Given the description of an element on the screen output the (x, y) to click on. 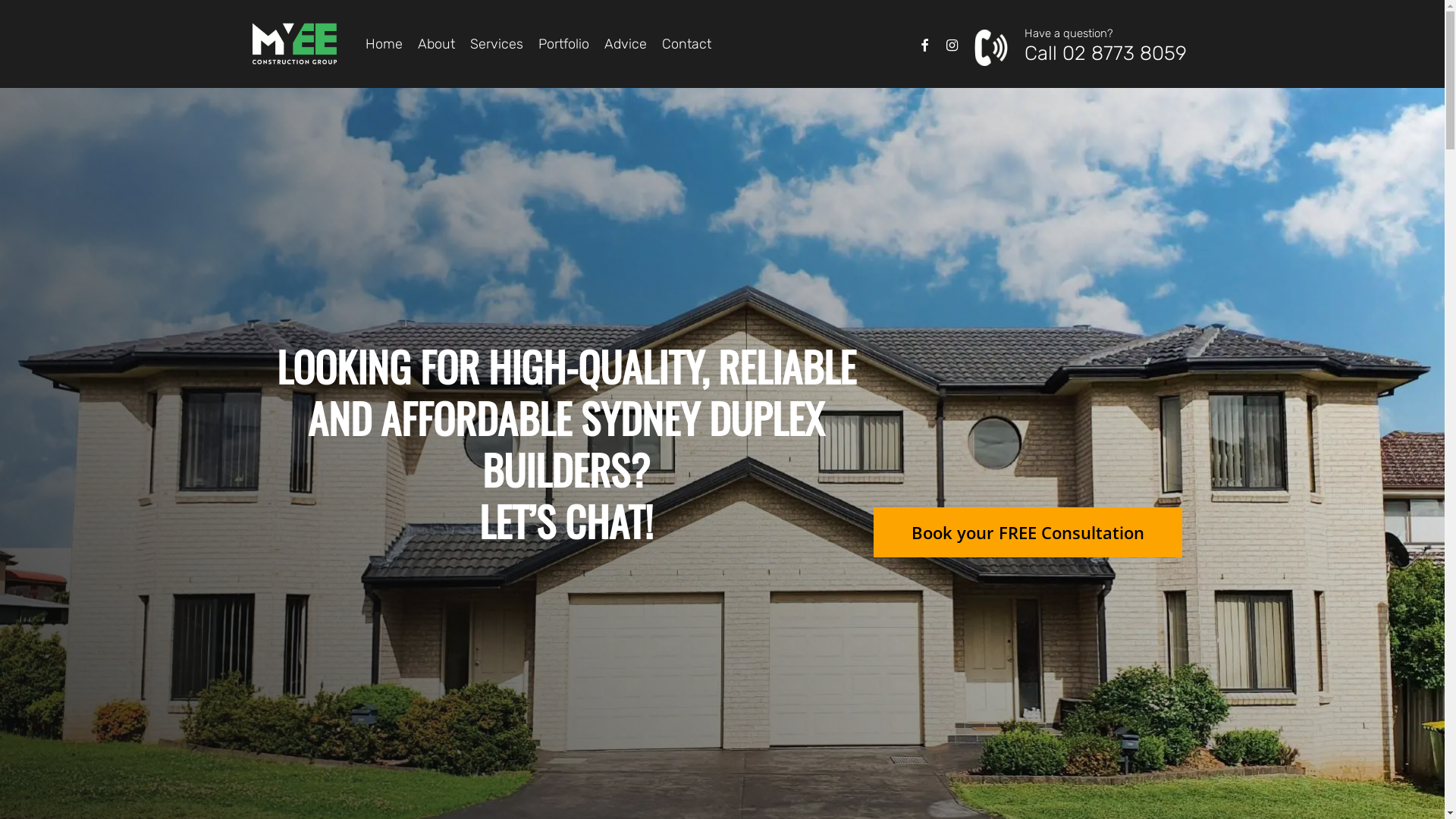
facebook Element type: text (924, 43)
About Element type: text (435, 43)
instagram Element type: text (951, 43)
Have a question?
Call 02 8773 8059 Element type: text (1079, 43)
Contact Element type: text (685, 43)
Portfolio Element type: text (563, 43)
Advice Element type: text (624, 43)
Services Element type: text (496, 43)
Book your FREE Consultation Element type: text (1027, 532)
Home Element type: text (383, 43)
